Given the description of an element on the screen output the (x, y) to click on. 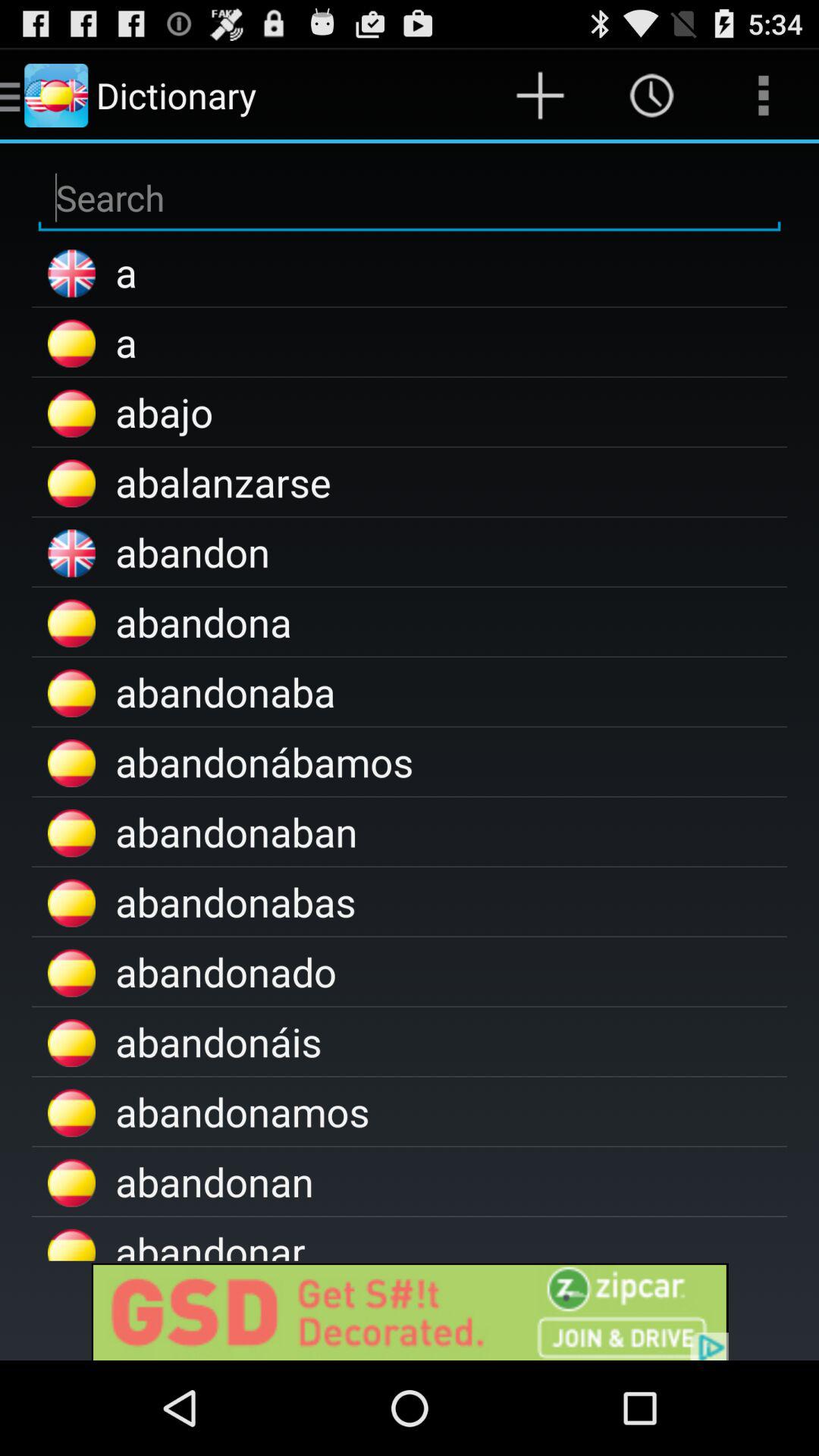
open the advertisement (409, 1310)
